Given the description of an element on the screen output the (x, y) to click on. 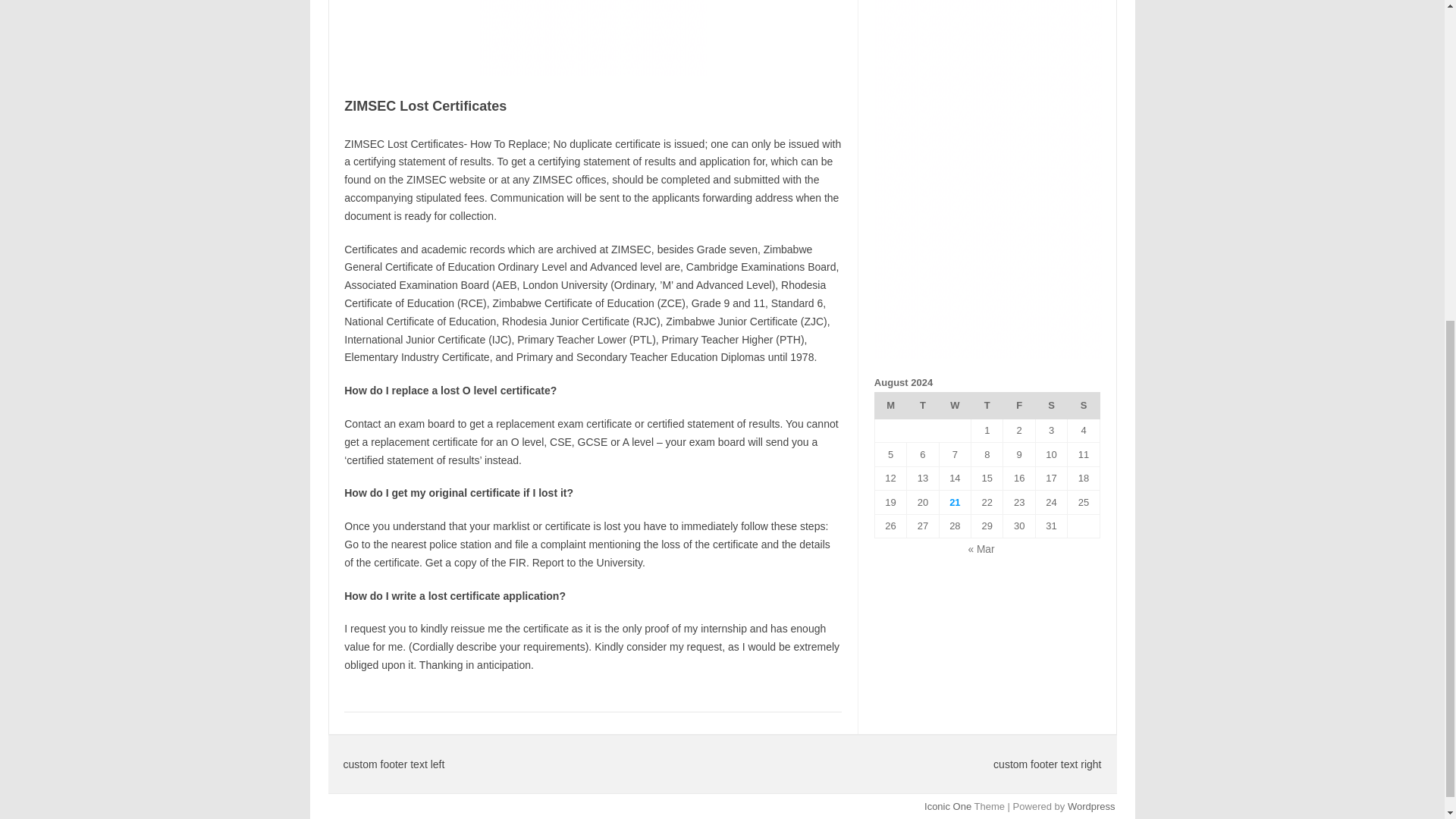
Tuesday (923, 405)
Wednesday (955, 405)
Friday (1019, 405)
Sunday (1083, 405)
Monday (890, 405)
Wordpress (1091, 806)
3rd party ad content (592, 38)
Saturday (1051, 405)
Thursday (987, 405)
Iconic One (947, 806)
